Given the description of an element on the screen output the (x, y) to click on. 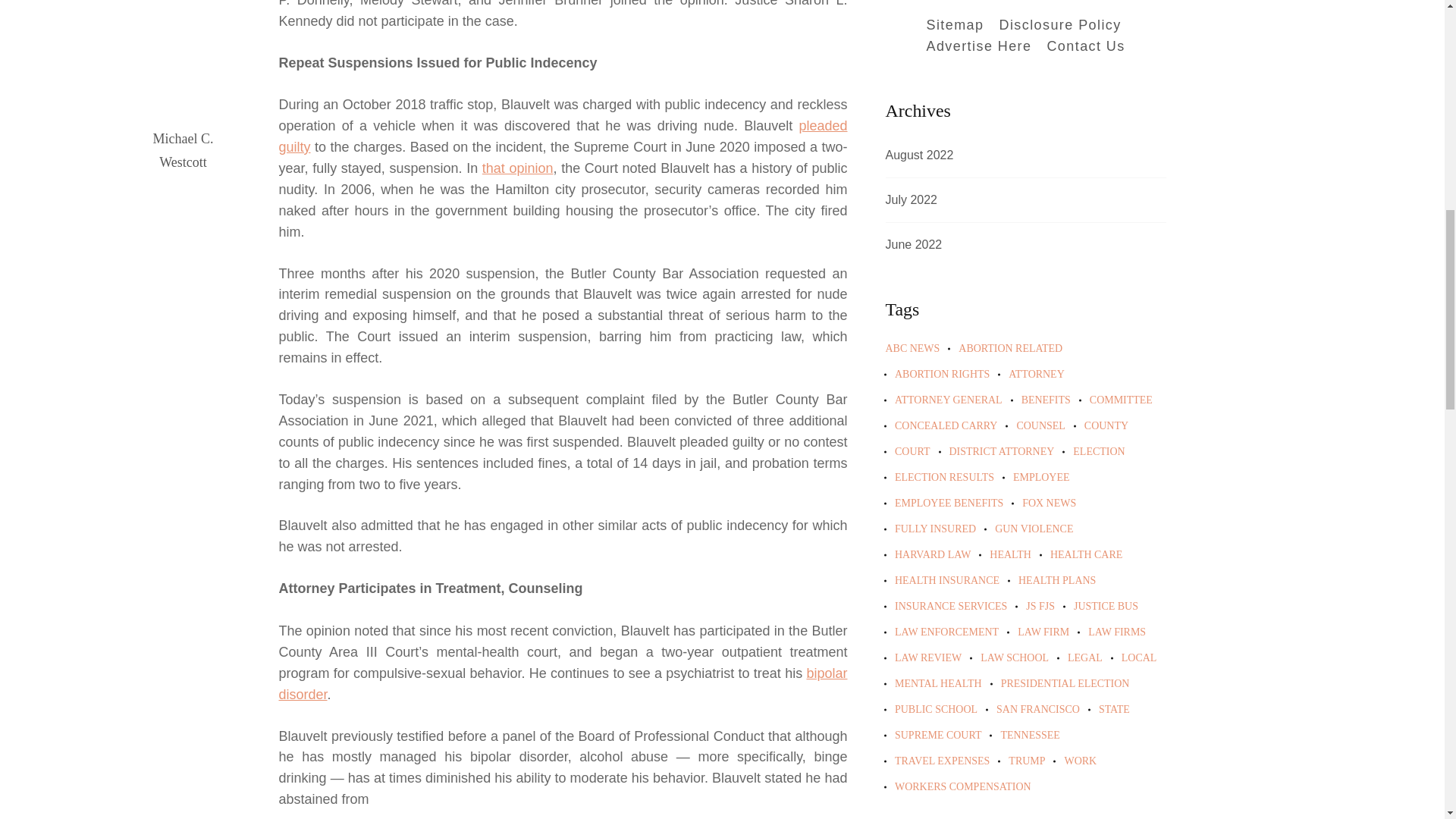
that opinion (517, 168)
Click to view. Link opens new window. (517, 168)
pleaded guilty (563, 135)
bipolar disorder (563, 683)
